Given the description of an element on the screen output the (x, y) to click on. 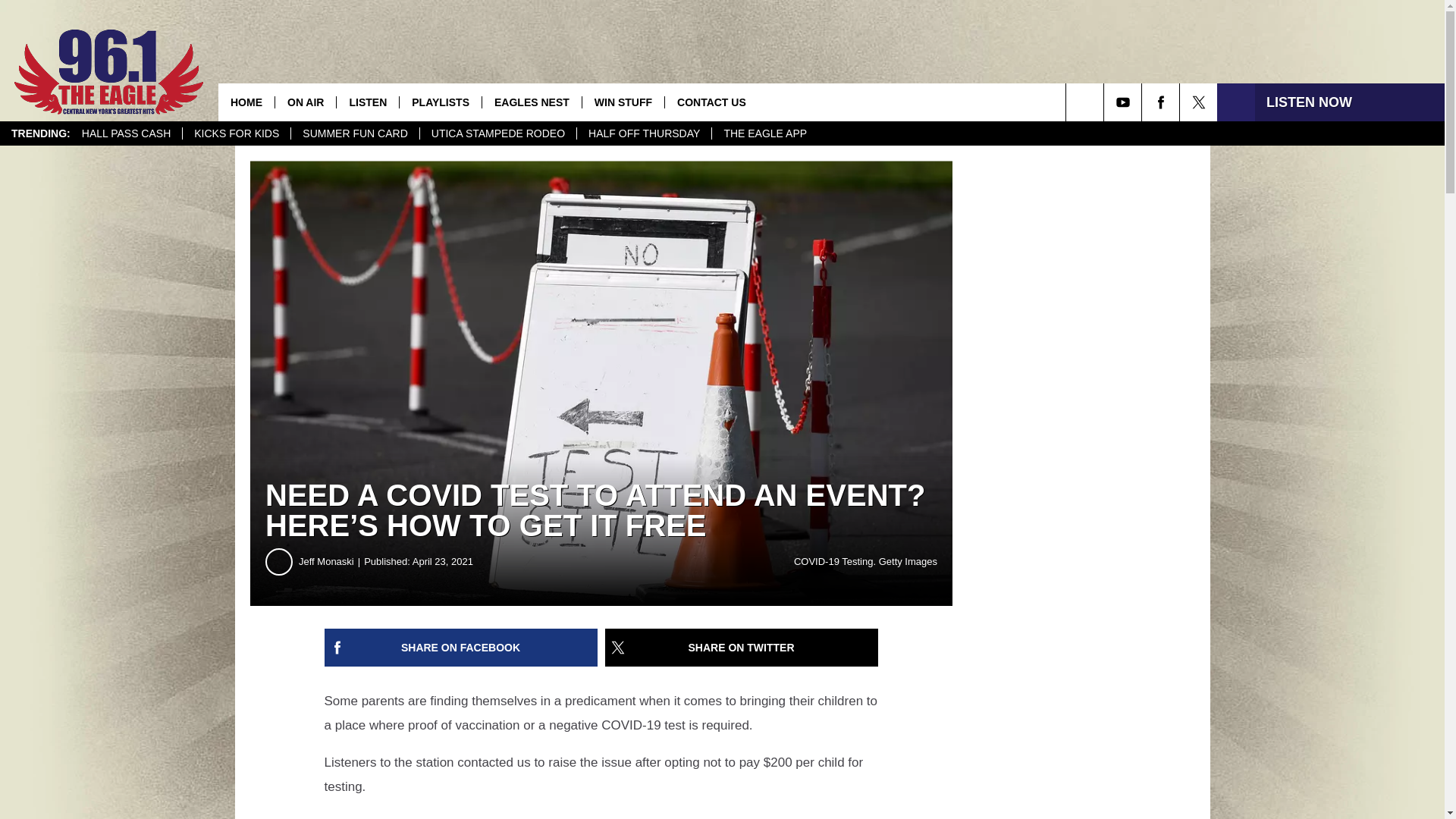
PLAYLISTS (439, 102)
WIN STUFF (621, 102)
LISTEN (367, 102)
Share on Twitter (741, 647)
THE EAGLE APP (764, 133)
CONTACT US (710, 102)
UTICA STAMPEDE RODEO (497, 133)
HALF OFF THURSDAY (643, 133)
HALL PASS CASH (126, 133)
EAGLES NEST (530, 102)
HOME (246, 102)
KICKS FOR KIDS (235, 133)
Share on Facebook (460, 647)
SUMMER FUN CARD (354, 133)
ON AIR (305, 102)
